Given the description of an element on the screen output the (x, y) to click on. 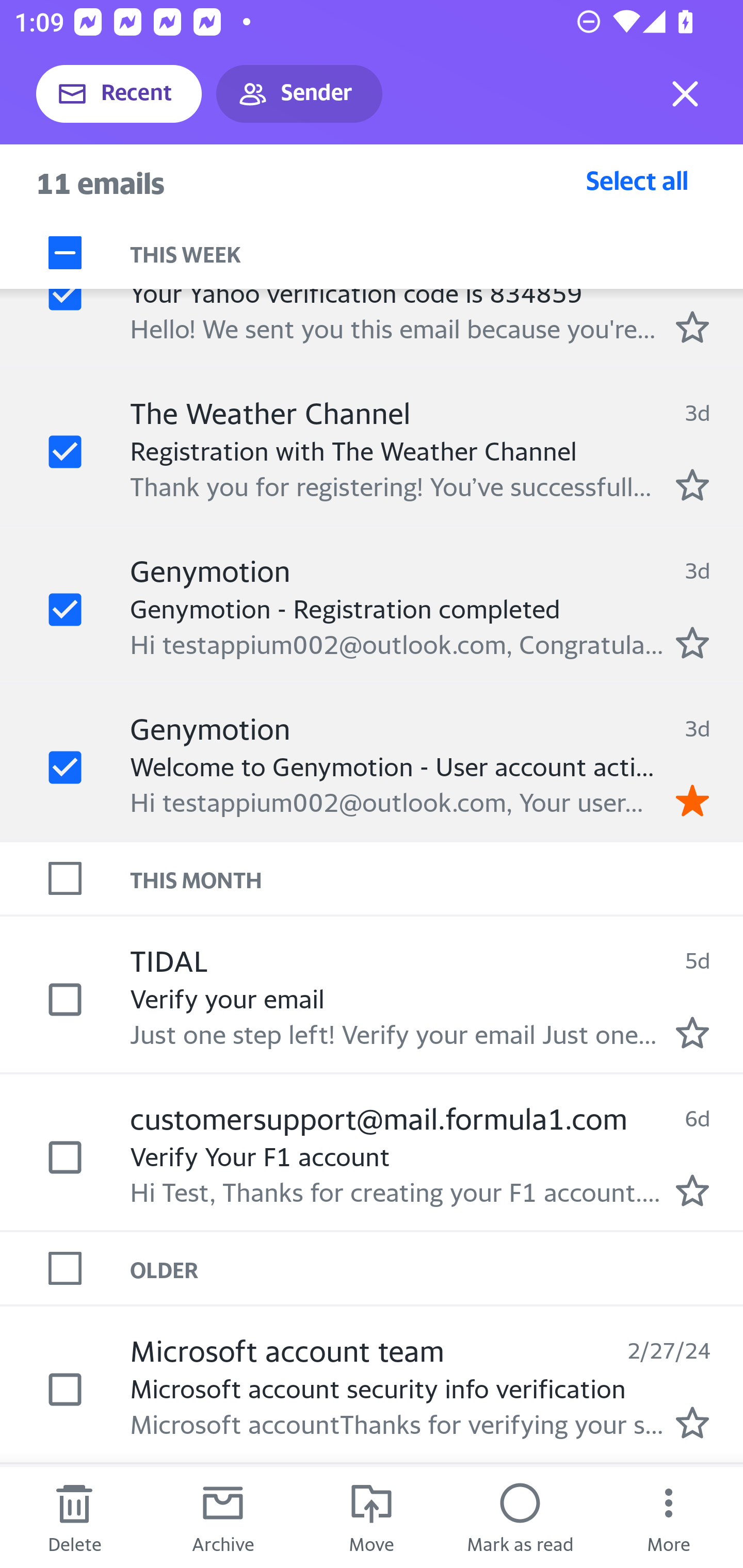
Sender (299, 93)
Exit selection mode (684, 93)
Select all (637, 180)
Mark as starred. (692, 326)
Mark as starred. (692, 485)
Mark as starred. (692, 642)
Remove star. (692, 800)
THIS MONTH (436, 878)
Mark as starred. (692, 1032)
Mark as starred. (692, 1190)
OLDER (436, 1267)
Mark as starred. (692, 1422)
Delete (74, 1517)
Archive (222, 1517)
Move (371, 1517)
Mark as read (519, 1517)
More (668, 1517)
